Given the description of an element on the screen output the (x, y) to click on. 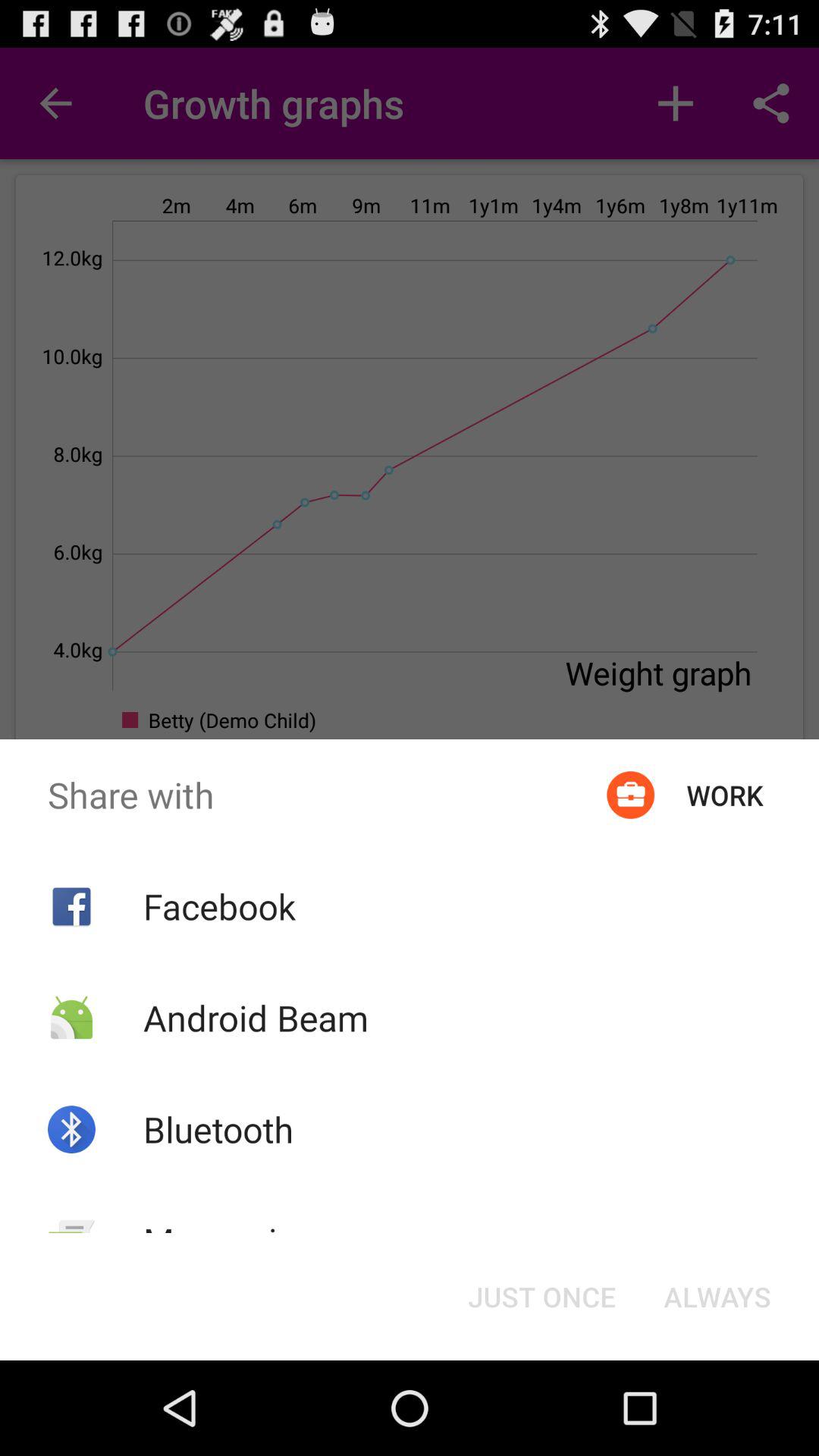
swipe until facebook icon (219, 906)
